Given the description of an element on the screen output the (x, y) to click on. 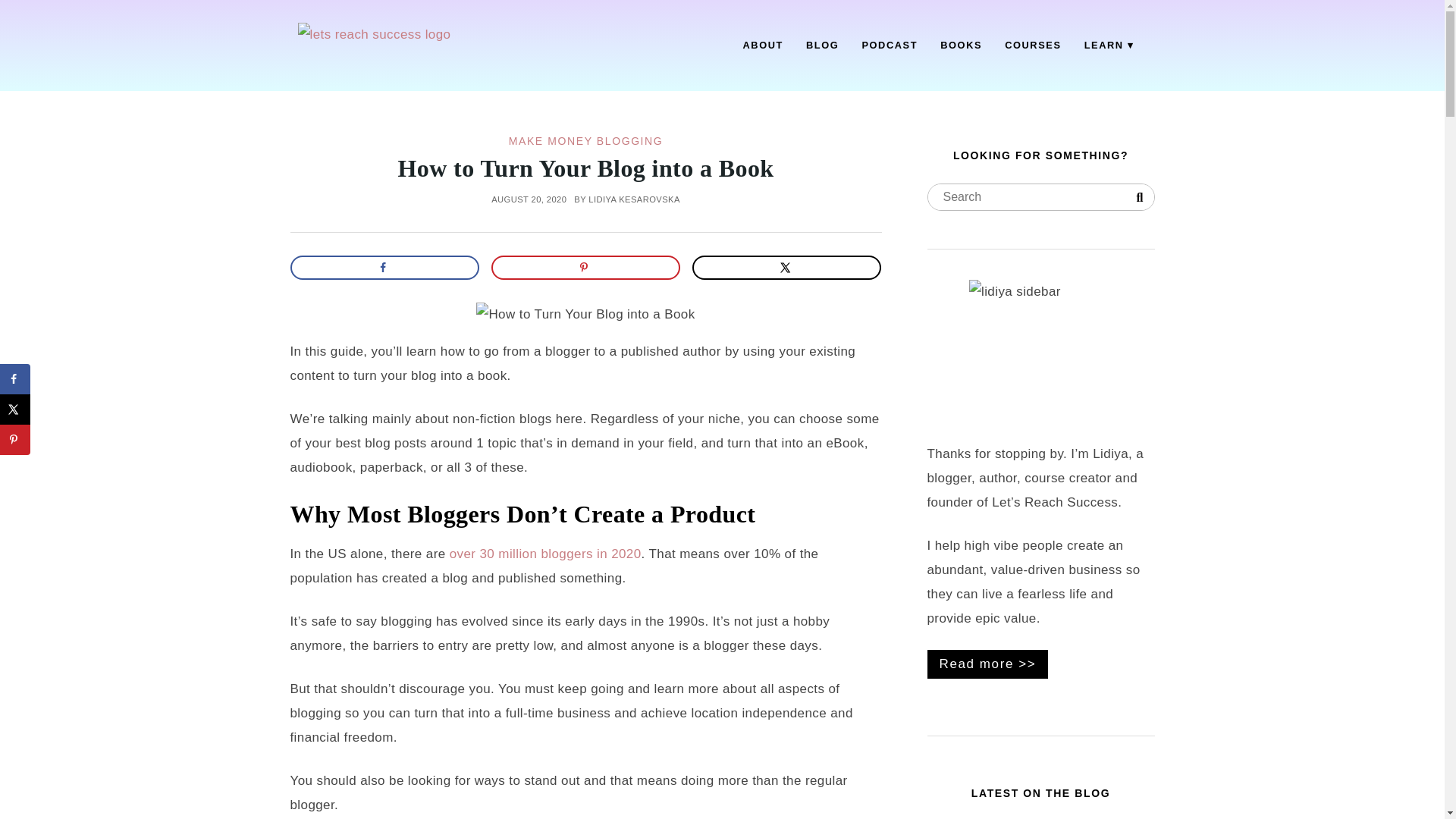
LEARN (1109, 45)
How to Turn Your Blog into a Book (585, 167)
Share on Facebook (15, 378)
Save to Pinterest (586, 267)
MAKE MONEY BLOGGING (585, 141)
Save to Pinterest (15, 440)
BLOG (822, 45)
over 30 million bloggers in 2020 (543, 554)
Share on Facebook (384, 267)
BOOKS (960, 45)
